Given the description of an element on the screen output the (x, y) to click on. 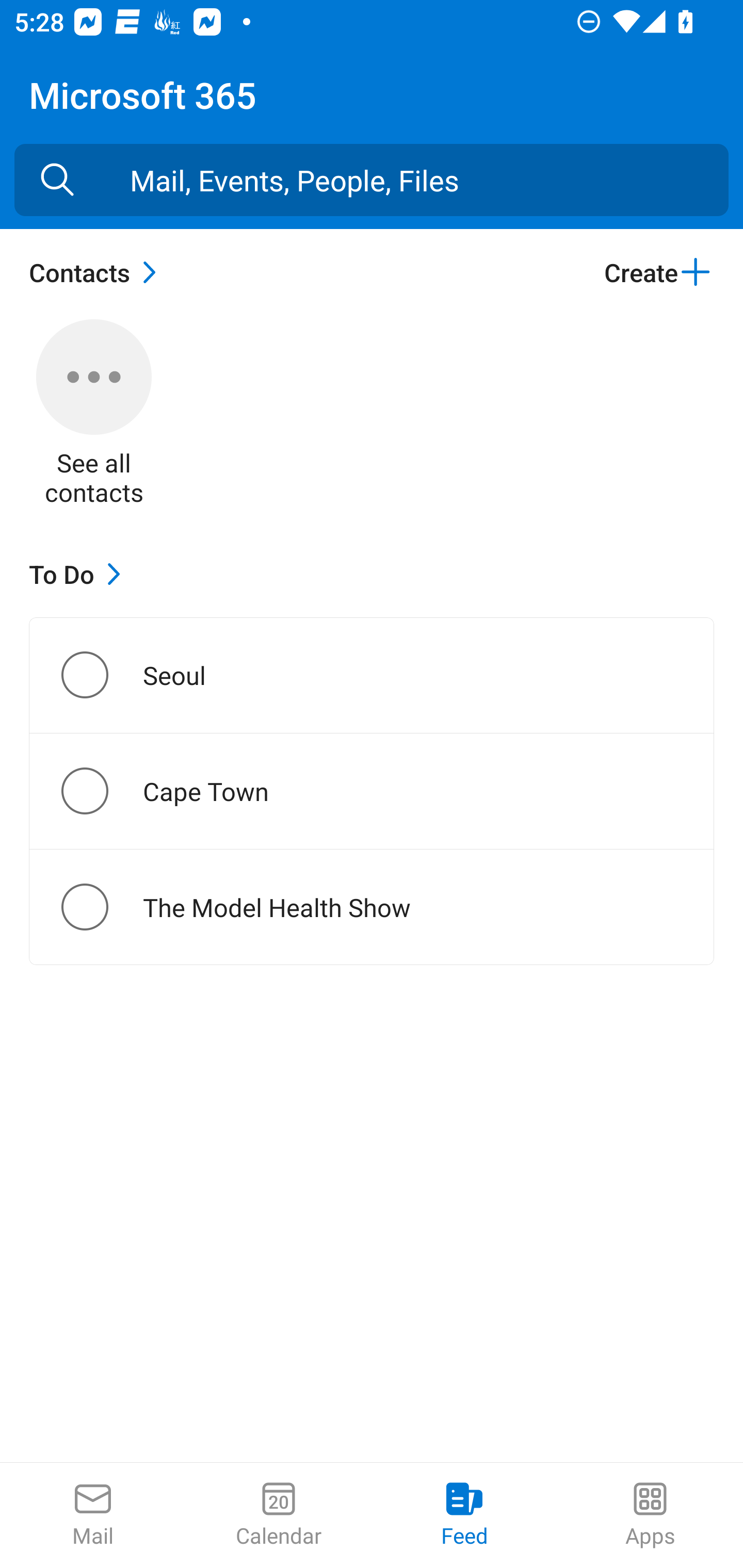
Search for Mail, Events, People, Files (57, 180)
Contacts (97, 271)
Create Create contact (658, 271)
See all contacts (93, 414)
To Do (79, 573)
Seoul Seoul Seoul. not completed (371, 674)
Seoul (101, 674)
Cape Town Cape Town Cape Town. not completed (371, 790)
Cape Town (101, 790)
The Model Health Show (101, 906)
Mail (92, 1515)
Calendar (278, 1515)
Apps (650, 1515)
